Given the description of an element on the screen output the (x, y) to click on. 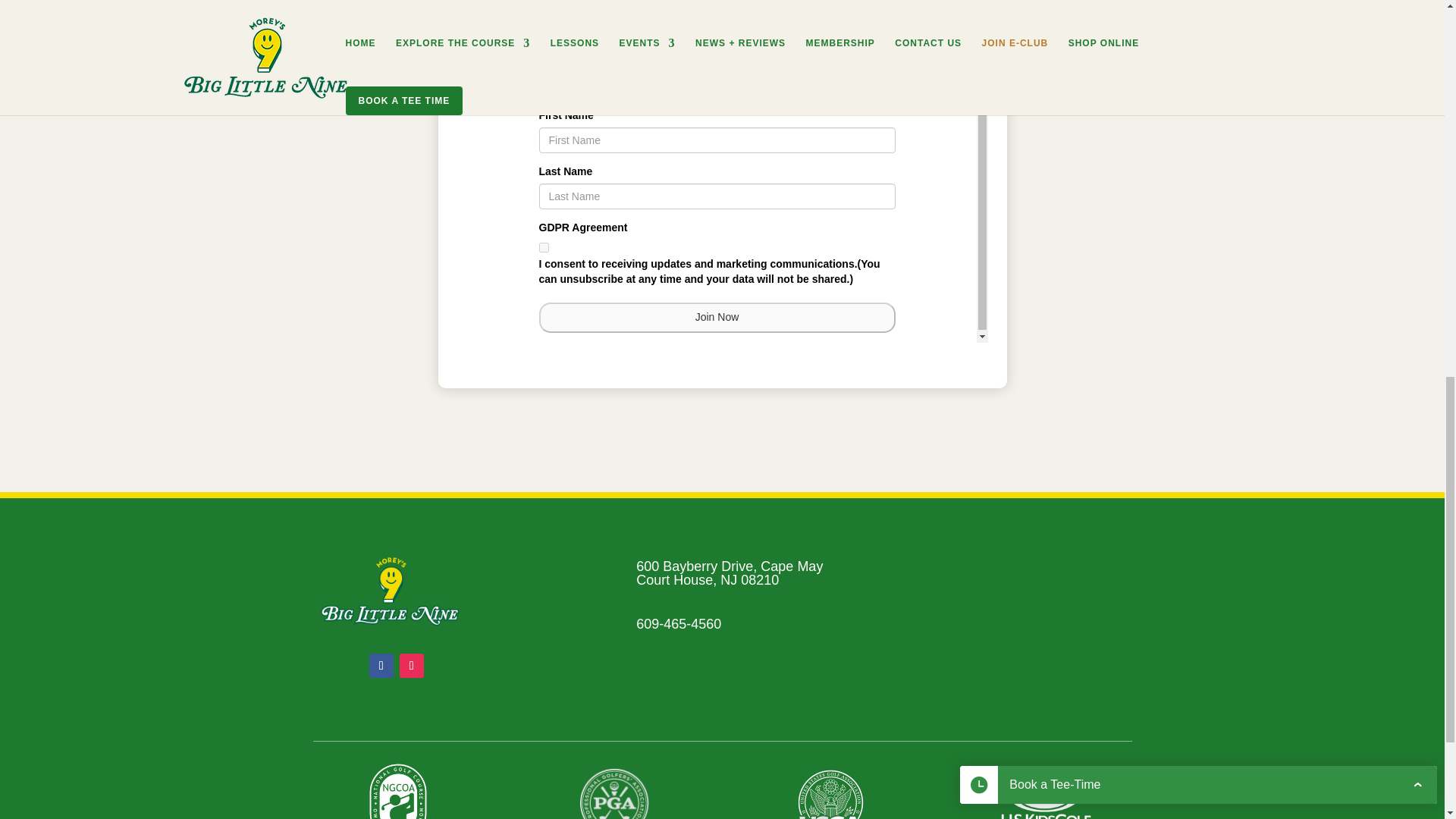
USGAseal2 (830, 794)
Follow on Facebook (381, 665)
Follow on Instagram (410, 665)
USkidsgolf1 (1046, 797)
